Given the description of an element on the screen output the (x, y) to click on. 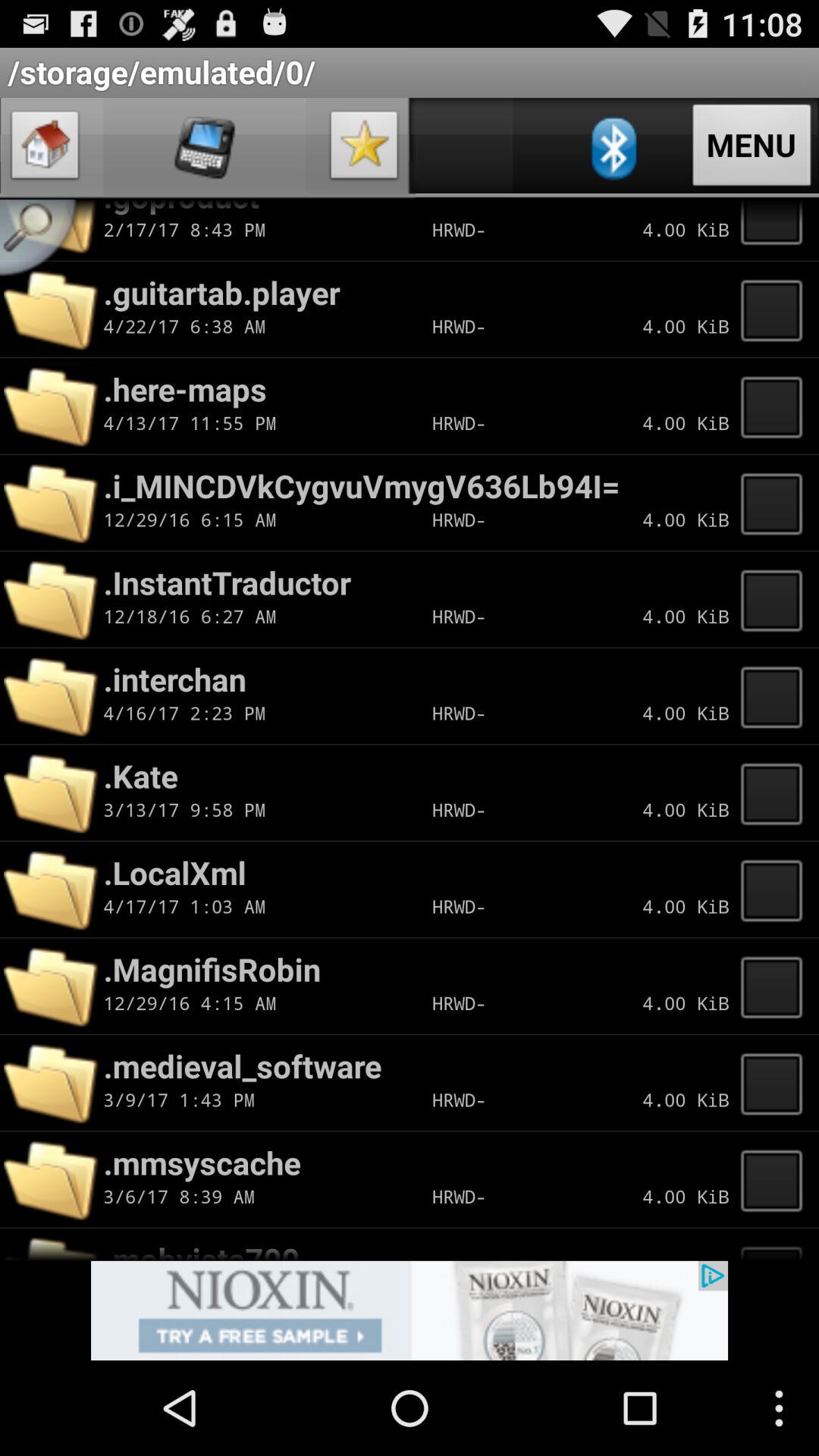
open search bar (43, 243)
